Given the description of an element on the screen output the (x, y) to click on. 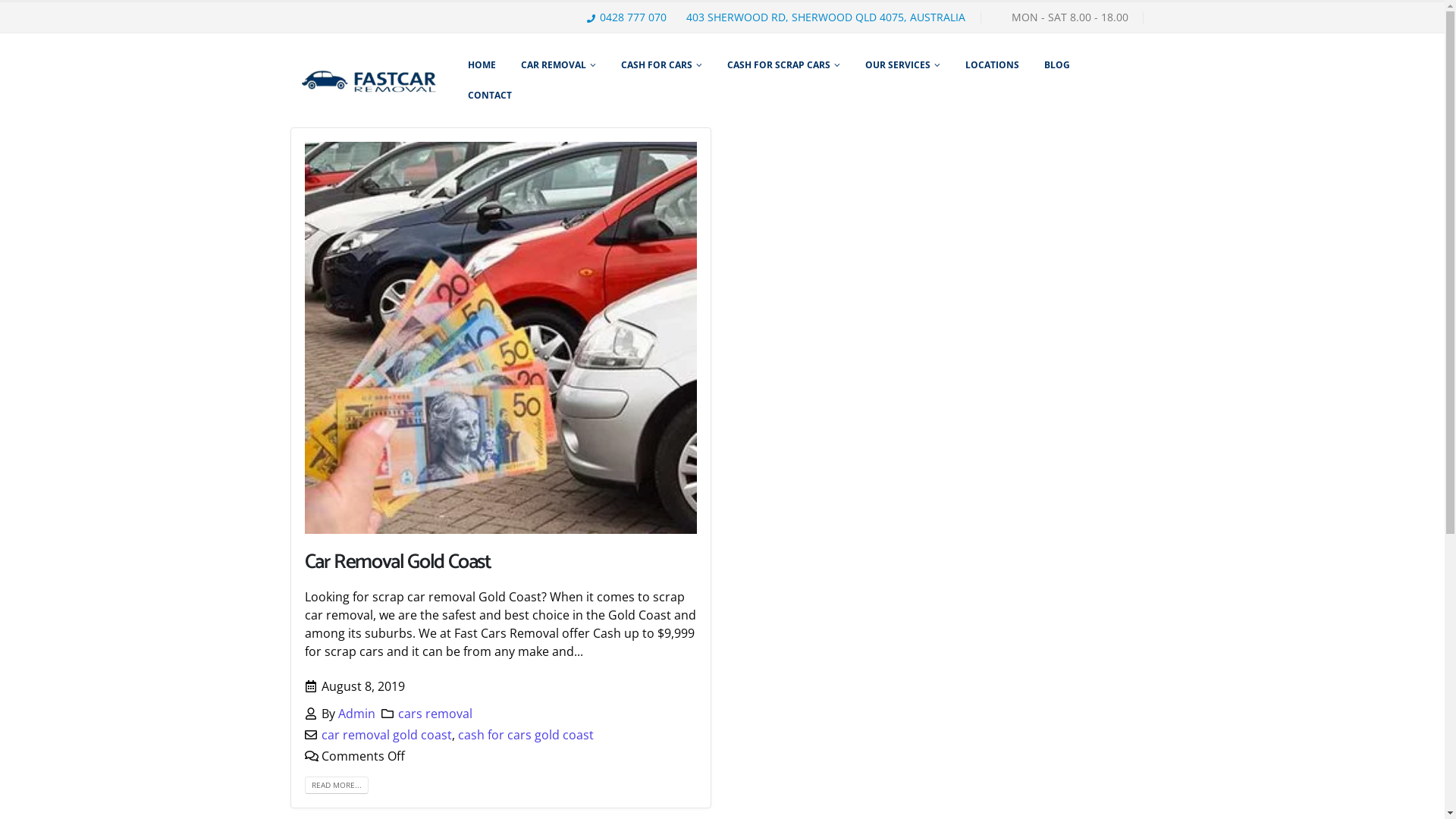
LOCATIONS Element type: text (992, 65)
CONTACT Element type: text (489, 95)
OUR SERVICES Element type: text (902, 65)
READ MORE... Element type: text (336, 784)
0428 777 070 Element type: text (630, 17)
cars removal Element type: text (435, 713)
Fast Cars Removal - Top Cash For Cars Removal Brisbane Element type: hover (369, 80)
CASH FOR CARS Element type: text (661, 65)
Admin Element type: text (356, 713)
CAR REMOVAL Element type: text (558, 65)
BLOG Element type: text (1057, 65)
403 SHERWOOD RD, SHERWOOD QLD 4075, AUSTRALIA Element type: text (822, 17)
cash for cars gold coast Element type: text (525, 734)
HOME Element type: text (481, 65)
CASH FOR SCRAP CARS Element type: text (783, 65)
car removal gold coast Element type: text (386, 734)
Car Removal Gold Coast Element type: text (397, 562)
